Given the description of an element on the screen output the (x, y) to click on. 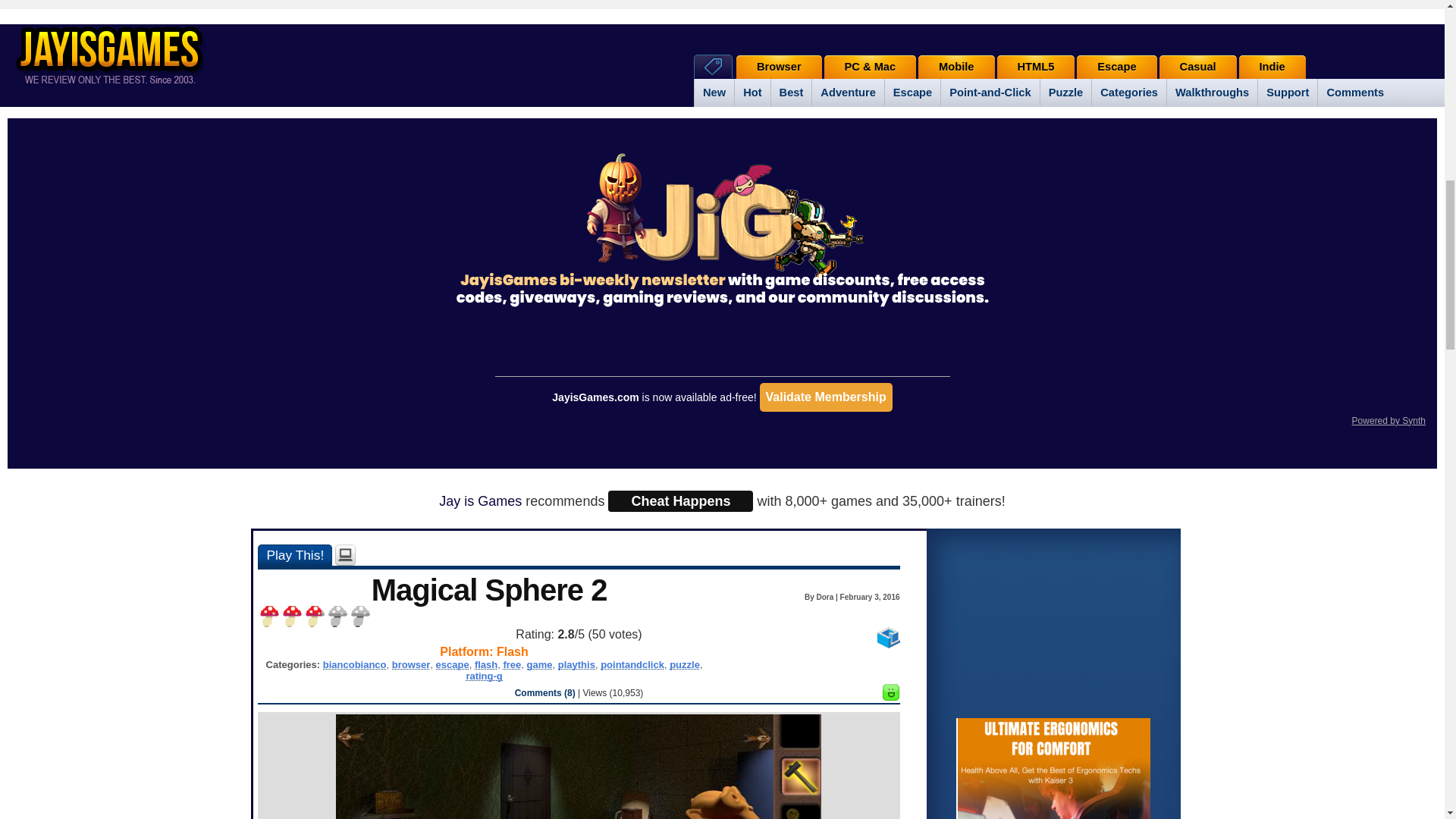
Browser (779, 66)
Escape (1116, 66)
Support (1287, 92)
Magical Sphere 2 Play This! (294, 554)
Walkthroughs (1211, 92)
Casual (1197, 66)
Free online and mobile games (116, 52)
2 out of 5 (291, 616)
1 out of 5 (269, 616)
New (713, 92)
Cheat Happens (680, 500)
Indie (1272, 66)
5 out of 5 (360, 616)
Adventure (846, 92)
This game is rated :D for content (890, 696)
